Given the description of an element on the screen output the (x, y) to click on. 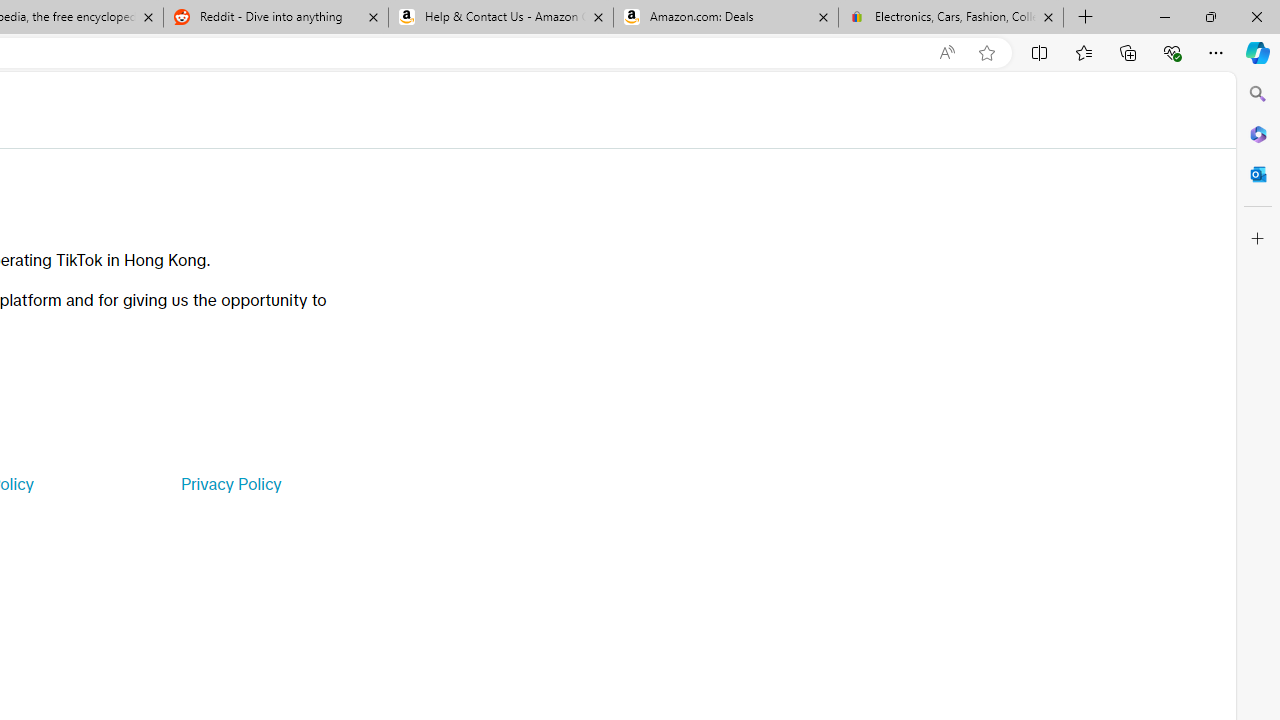
Electronics, Cars, Fashion, Collectibles & More | eBay (950, 17)
Close Outlook pane (1258, 174)
Reddit - Dive into anything (275, 17)
New Tab (1085, 17)
Collections (1128, 52)
Add this page to favorites (Ctrl+D) (986, 53)
Split screen (1039, 52)
Microsoft 365 (1258, 133)
Settings and more (Alt+F) (1215, 52)
Customize (1258, 239)
Close (1256, 16)
Copilot (Ctrl+Shift+.) (1258, 52)
Privacy Policy (230, 484)
Browser essentials (1171, 52)
Minimize (1164, 16)
